Given the description of an element on the screen output the (x, y) to click on. 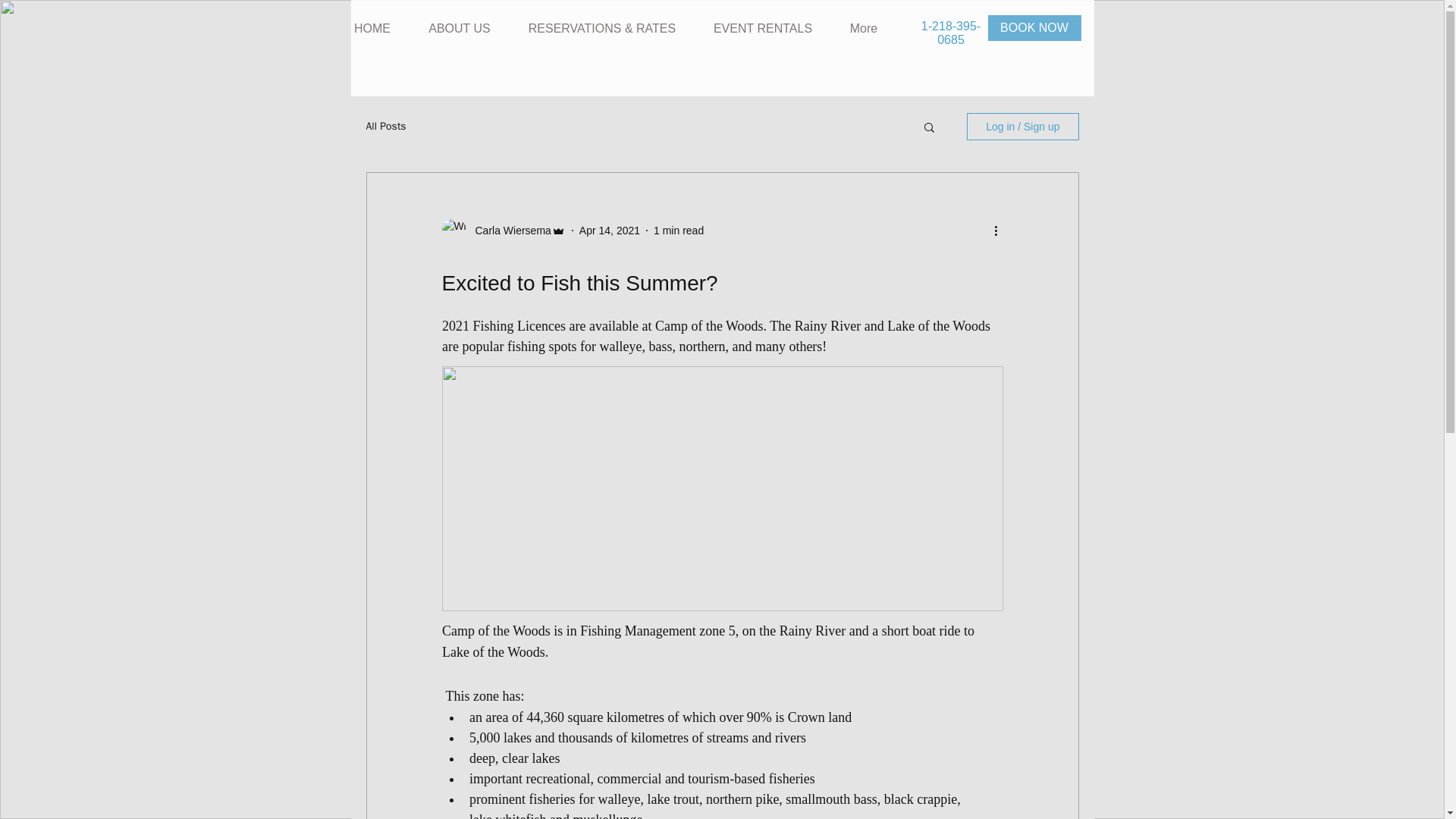
Apr 14, 2021 (609, 230)
EVENT RENTALS (762, 28)
HOME (371, 28)
Carla Wiersema (507, 230)
All Posts (385, 126)
BOOK NOW (1033, 27)
1 min read (678, 230)
ABOUT US (459, 28)
